Given the description of an element on the screen output the (x, y) to click on. 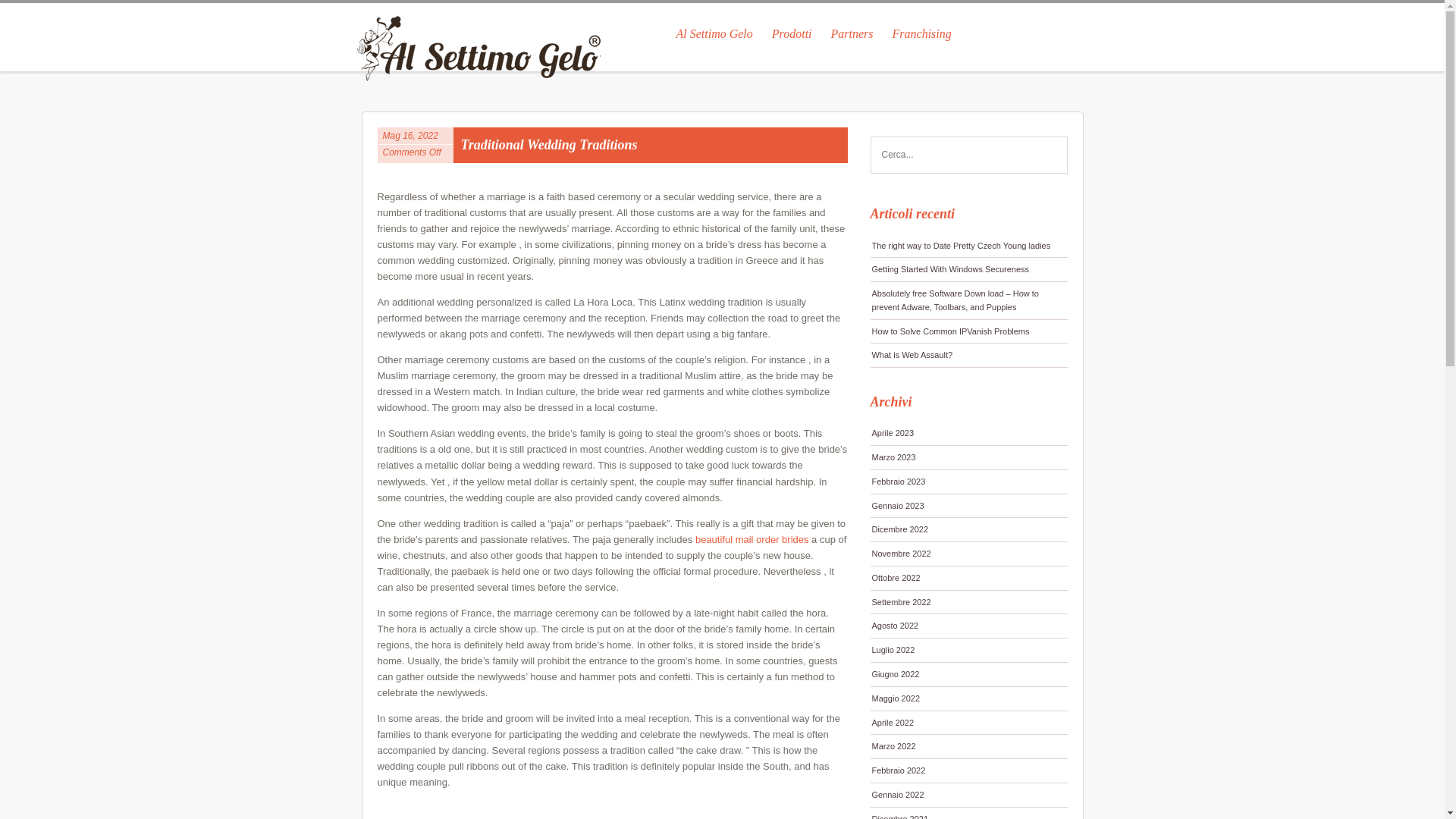
Ottobre 2022 (968, 577)
Maggio 2022 (968, 698)
Febbraio 2023 (968, 481)
Marzo 2023 (968, 457)
beautiful mail order brides (752, 539)
Settembre 2022 (968, 602)
Luglio 2022 (968, 649)
Marzo 2022 (968, 746)
Cerca (1049, 155)
Cerca (1049, 155)
